Given the description of an element on the screen output the (x, y) to click on. 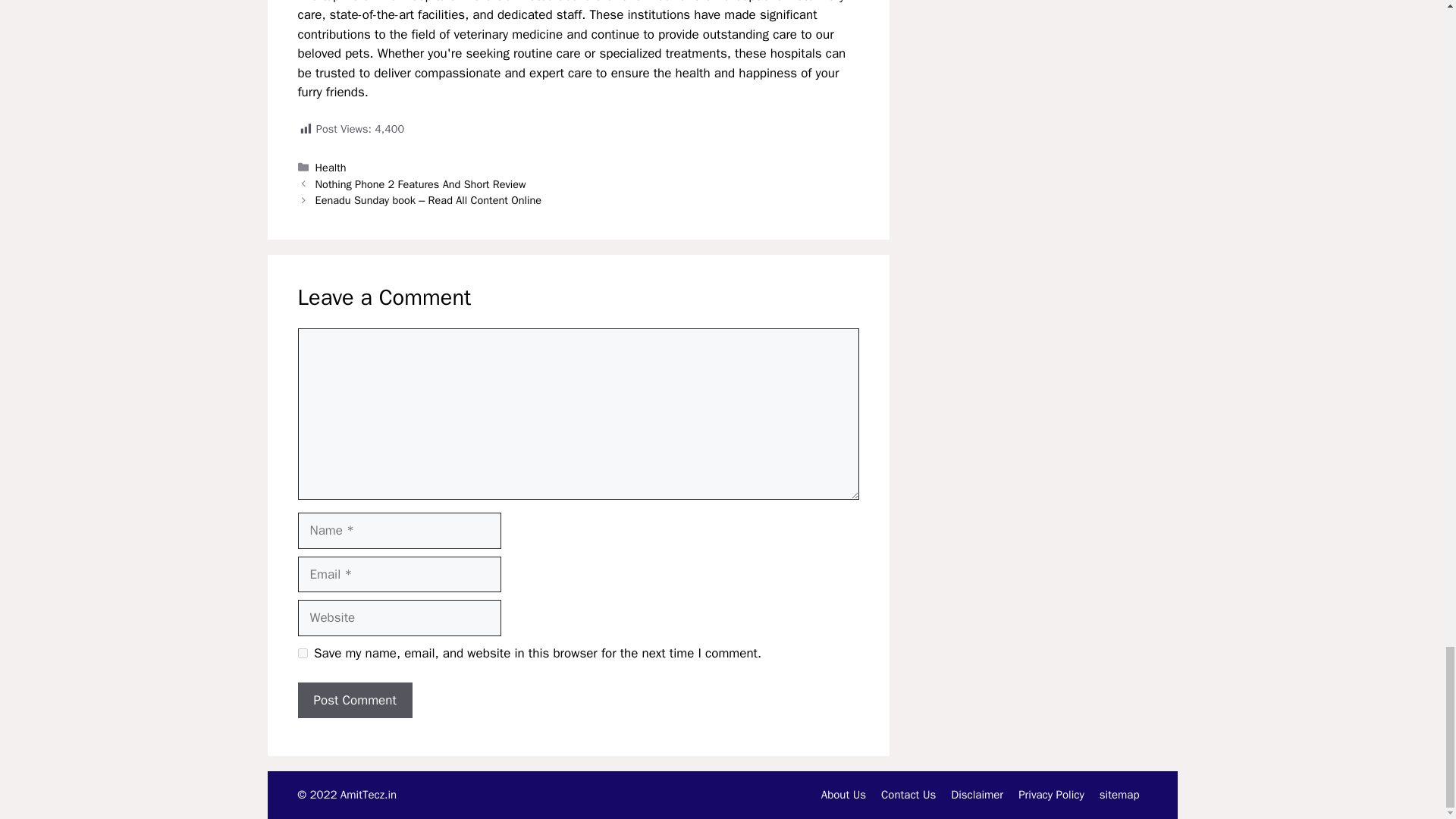
Post Comment (354, 700)
Health (330, 167)
Nothing Phone 2 Features And Short Review (420, 183)
yes (302, 653)
Post Comment (354, 700)
